Given the description of an element on the screen output the (x, y) to click on. 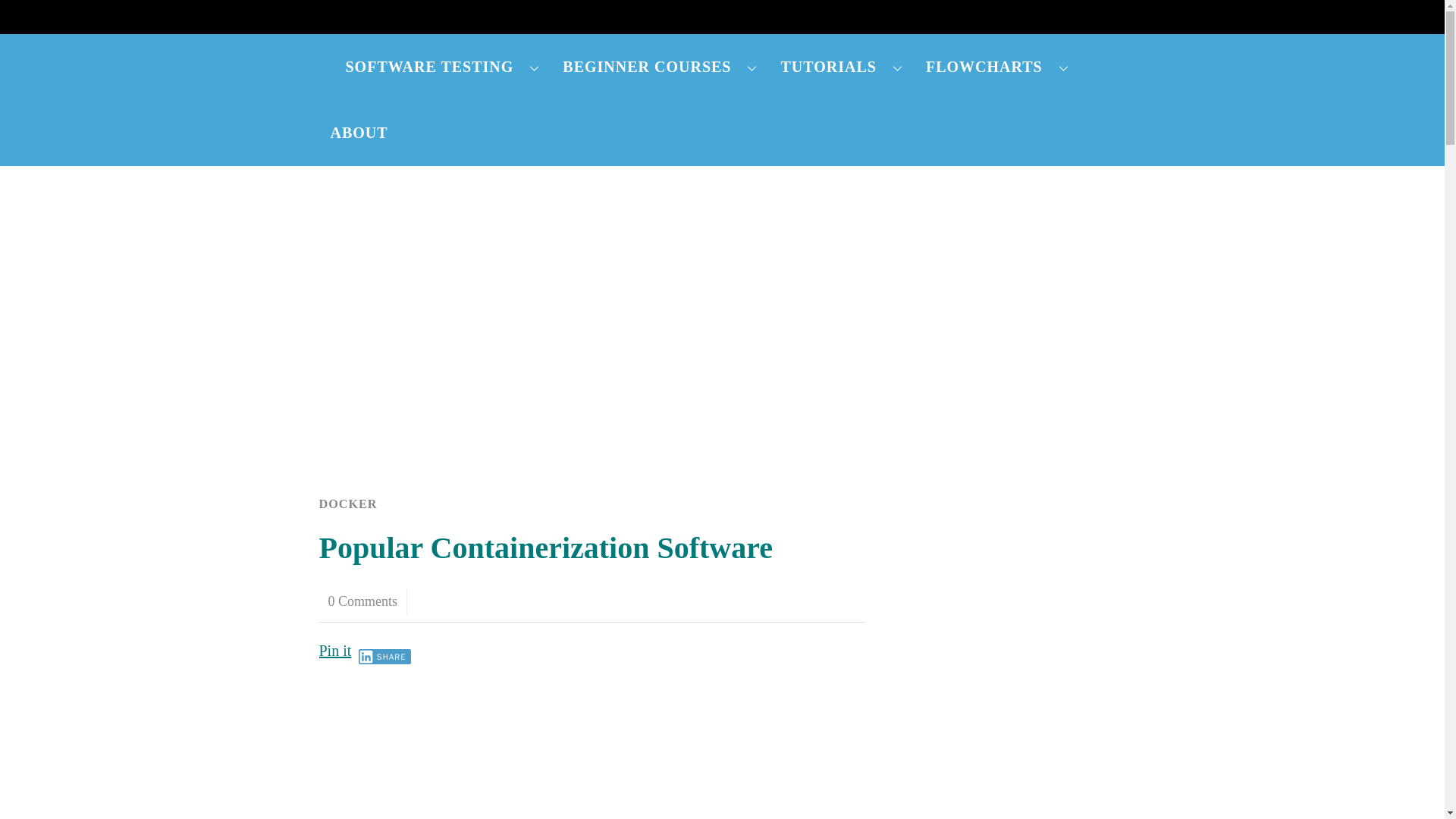
BEGINNER COURSES (659, 66)
TUTORIALS (841, 66)
Popular Containerization Software (545, 547)
FLOWCHARTS (997, 66)
SOFTWARE TESTING (442, 66)
ABOUT (358, 132)
SHARE (384, 656)
Advertisement (591, 751)
DOCKER (347, 504)
Pin it (334, 650)
0 Comments (362, 601)
